Given the description of an element on the screen output the (x, y) to click on. 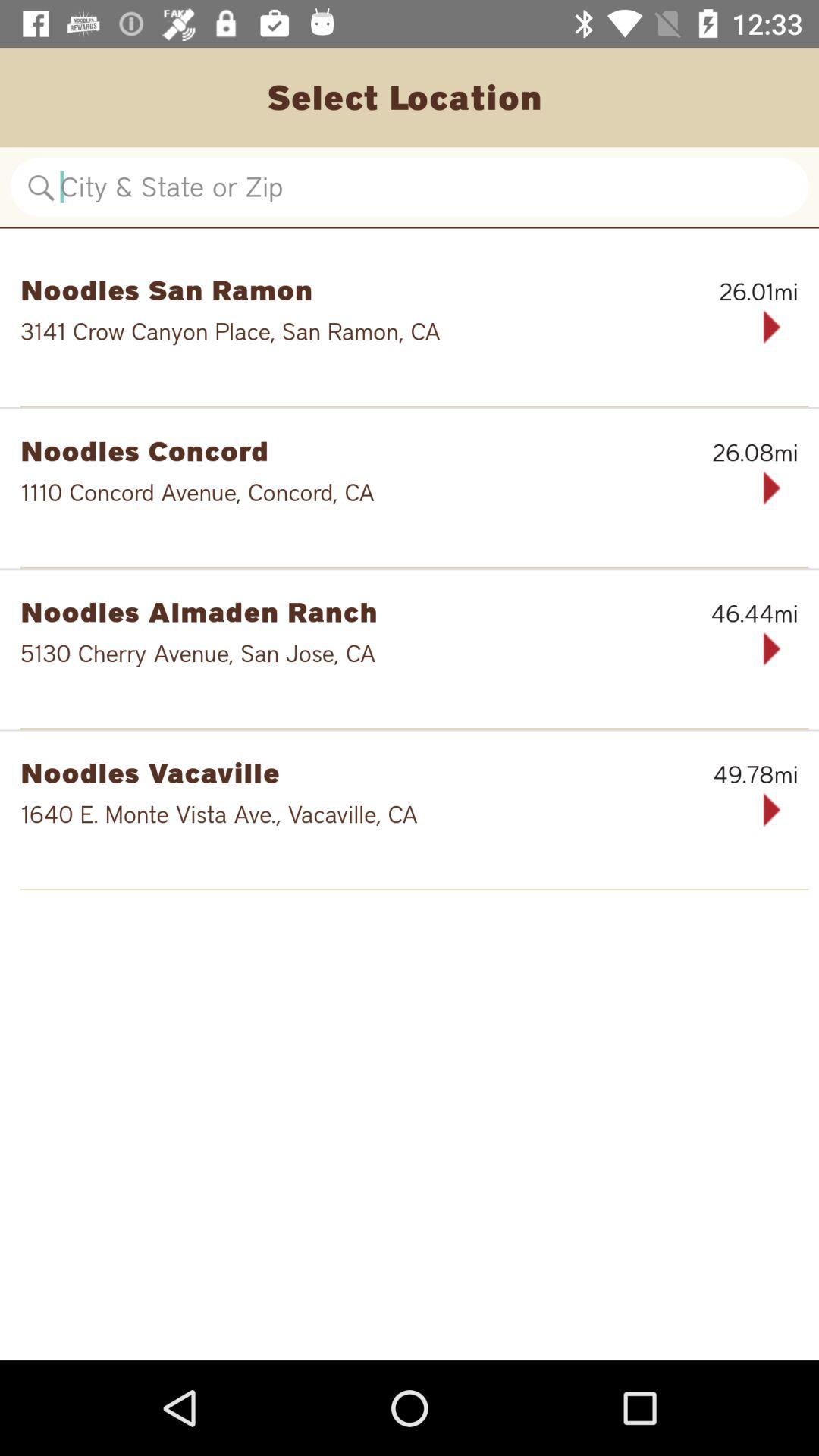
launch the 3141 crow canyon icon (361, 331)
